Given the description of an element on the screen output the (x, y) to click on. 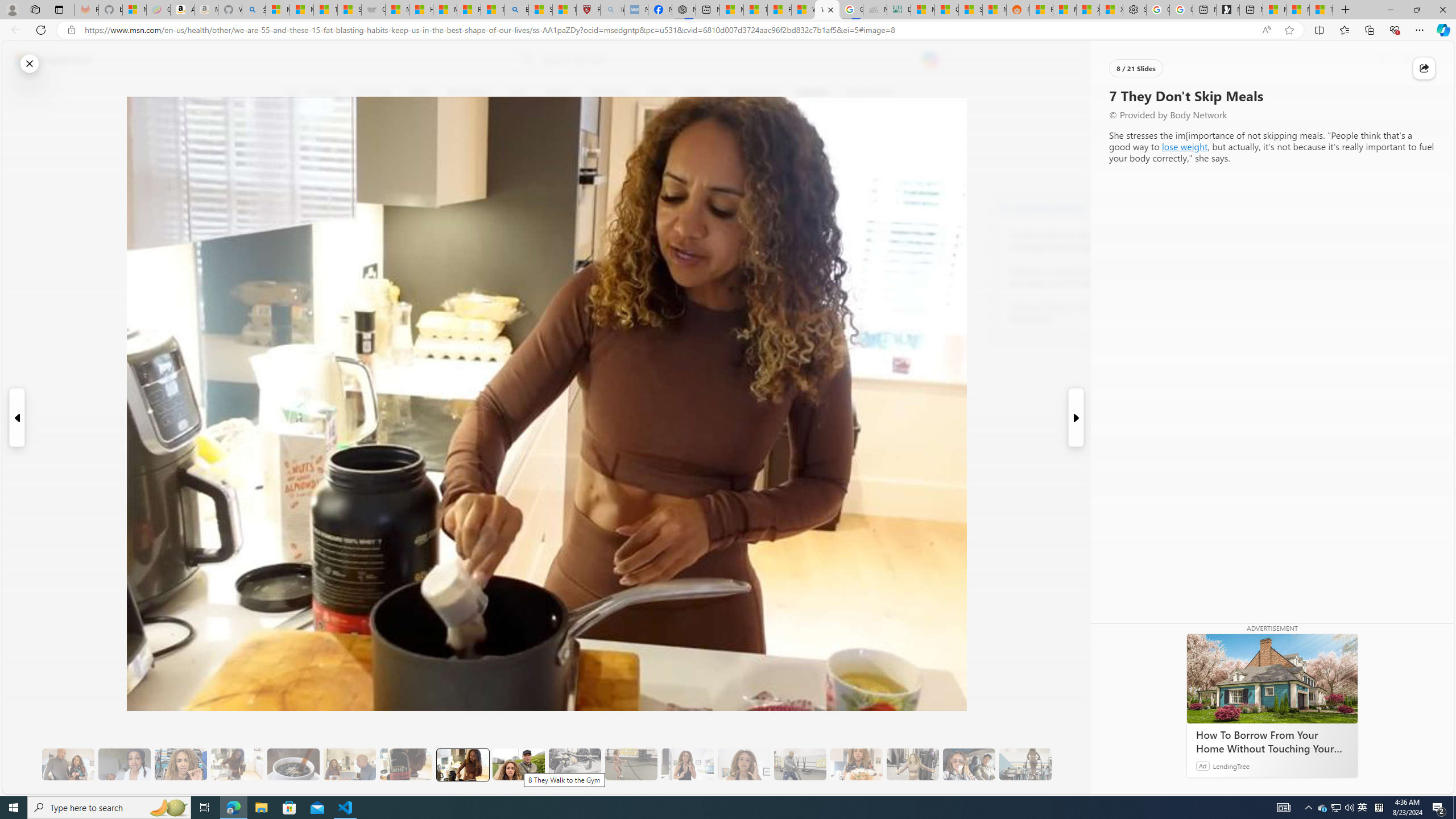
Open Copilot (930, 59)
13 Her Husband Does Group Cardio Classs (800, 764)
Science (558, 92)
Class: at-item (299, 266)
Feedback (1410, 784)
Start the conversation (299, 202)
3 They Drink Lemon Tea (237, 764)
Next Slide (1076, 417)
Discover (322, 92)
11 They Eat More Protein for Breakfast (687, 764)
Skip to footer (46, 59)
MSNBC - MSN (922, 9)
